Given the description of an element on the screen output the (x, y) to click on. 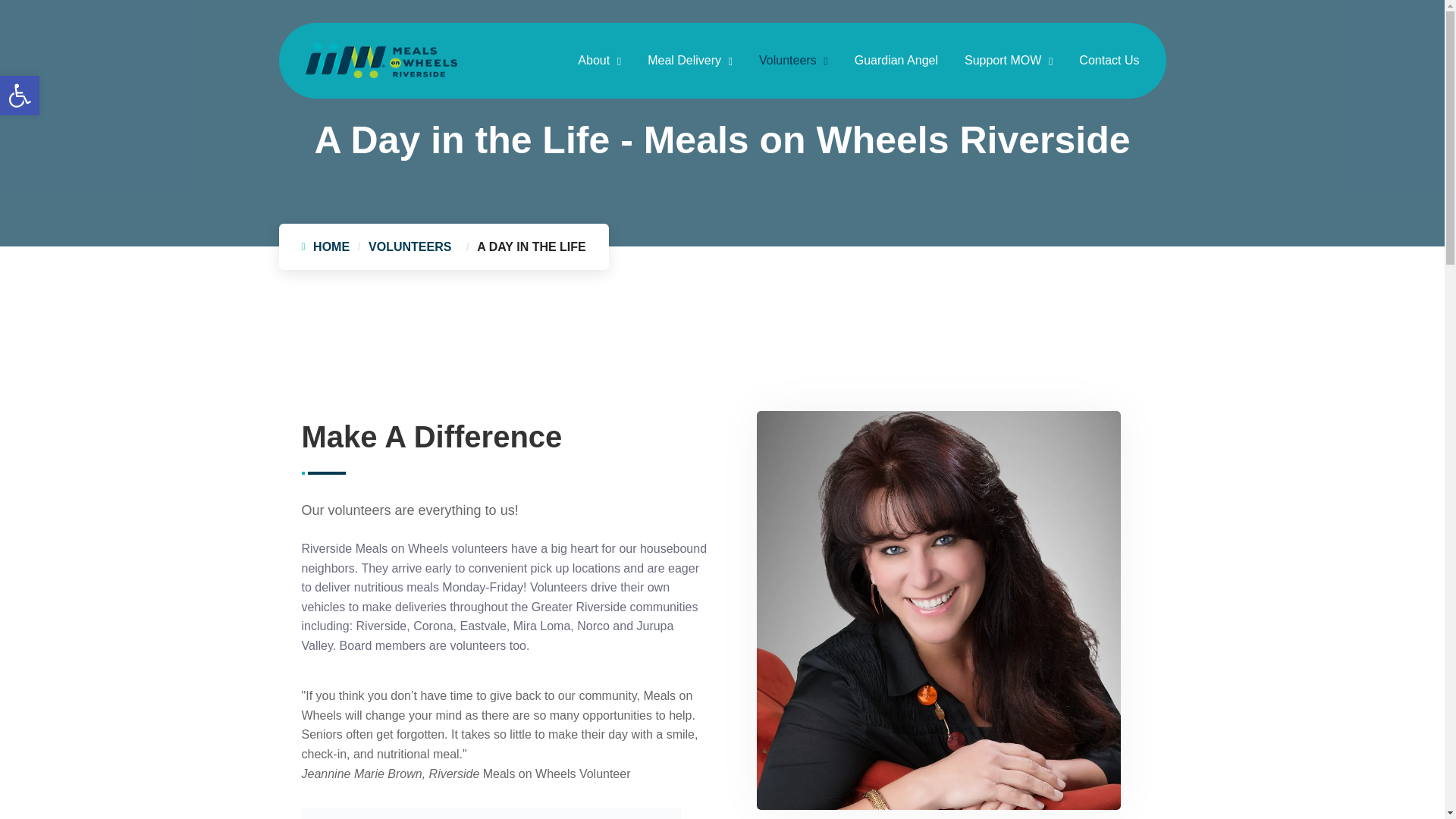
Meal Delivery (689, 60)
Volunteers (793, 60)
Meals on Wheels Riverside (380, 59)
Accessibility Tools (19, 95)
Support MOW (1007, 60)
Guardian Angel (895, 60)
Meal Delivery (689, 60)
VOLUNTEERS   (413, 245)
Volunteers (793, 60)
HOME (331, 245)
